Given the description of an element on the screen output the (x, y) to click on. 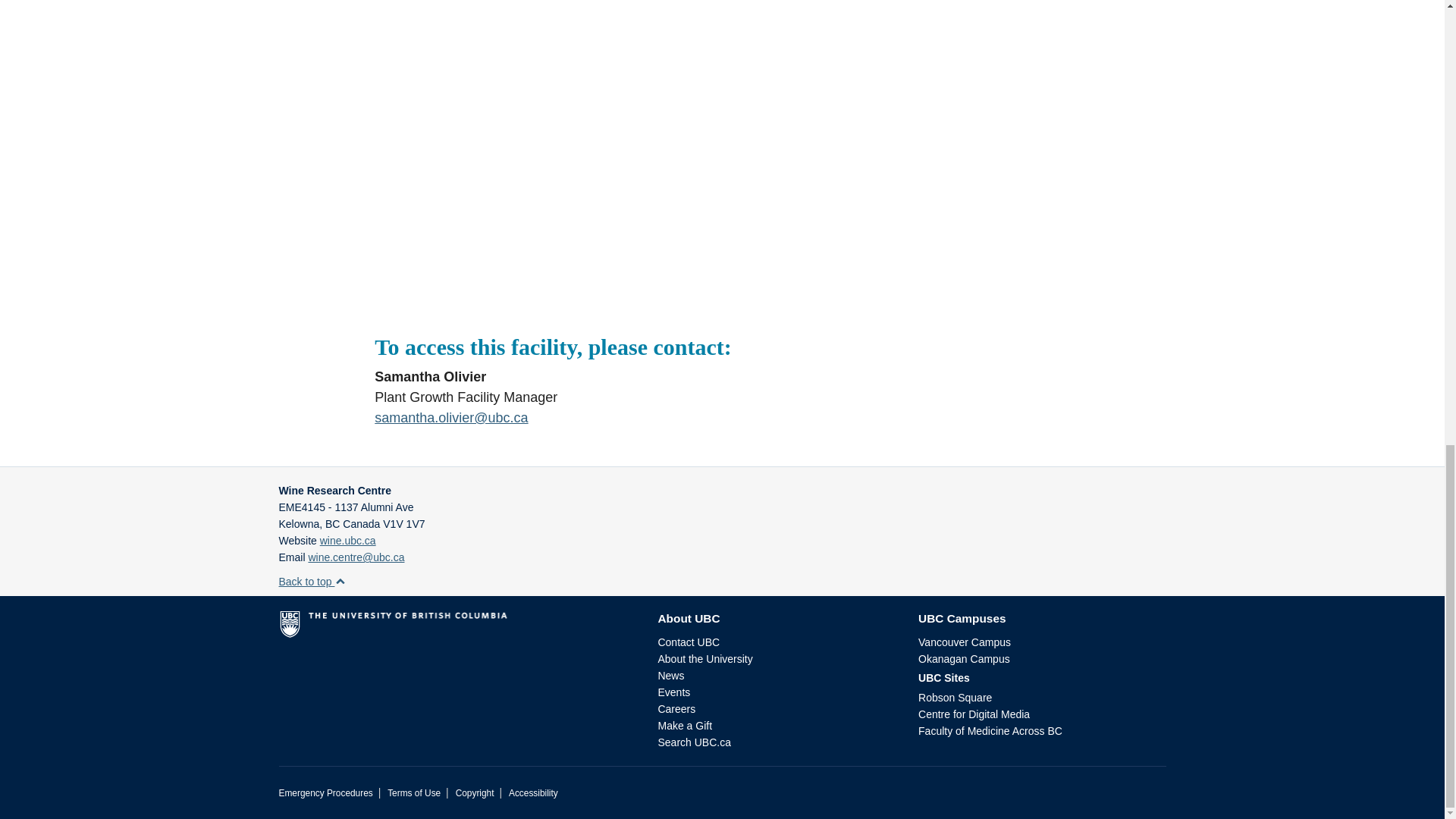
wine.ubc.ca (347, 540)
Emergency Procedures (325, 792)
Contact UBC (688, 642)
Terms of Use (414, 792)
Back to top (312, 581)
News (671, 675)
Back to top (312, 581)
The University of British Columbia (456, 629)
About the University (705, 658)
Accessibility (532, 792)
UBC Copyright (475, 792)
